Given the description of an element on the screen output the (x, y) to click on. 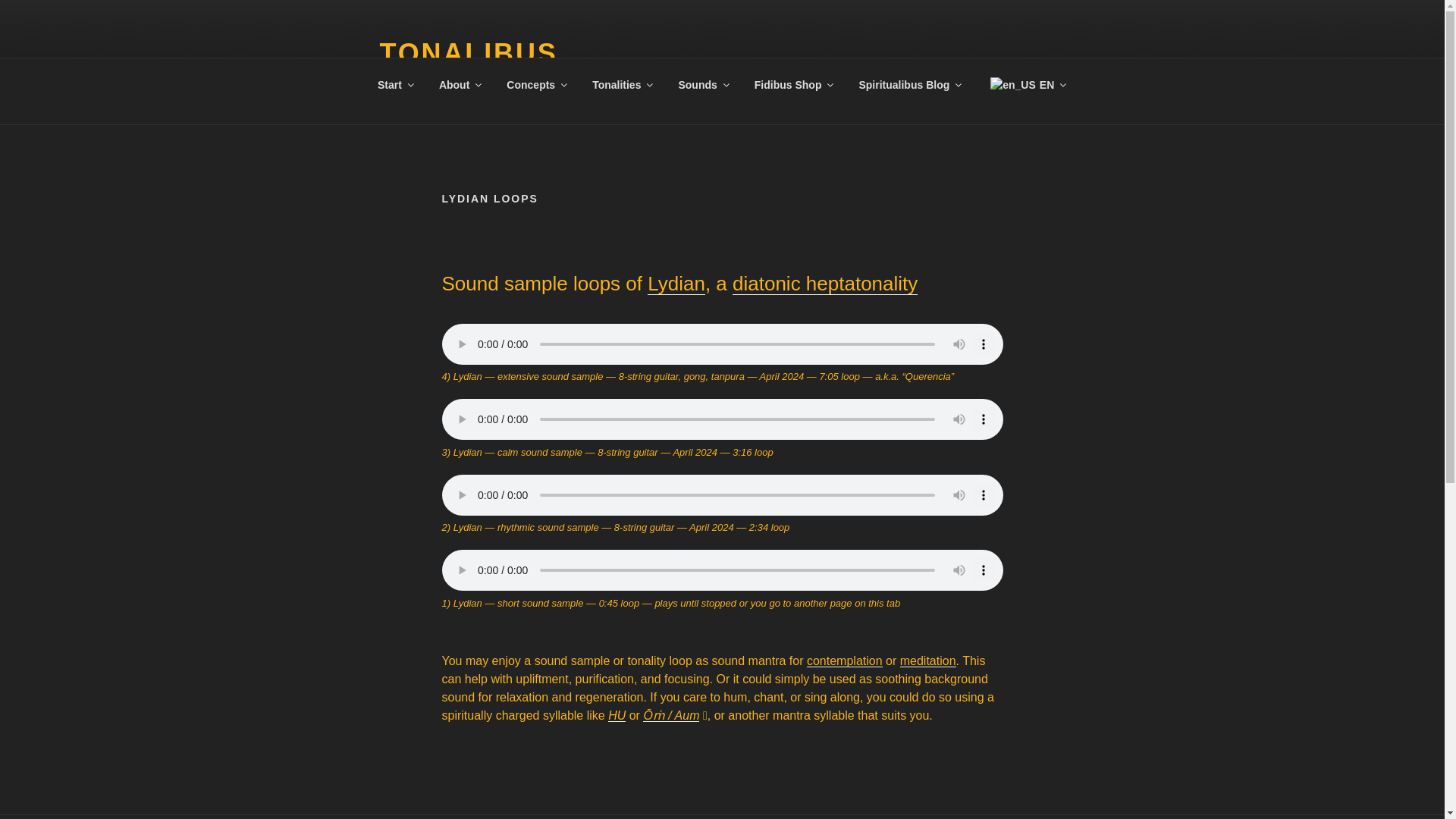
Start (394, 85)
Concepts (536, 85)
About (459, 85)
TONALIBUS (467, 52)
English (1012, 91)
